Given the description of an element on the screen output the (x, y) to click on. 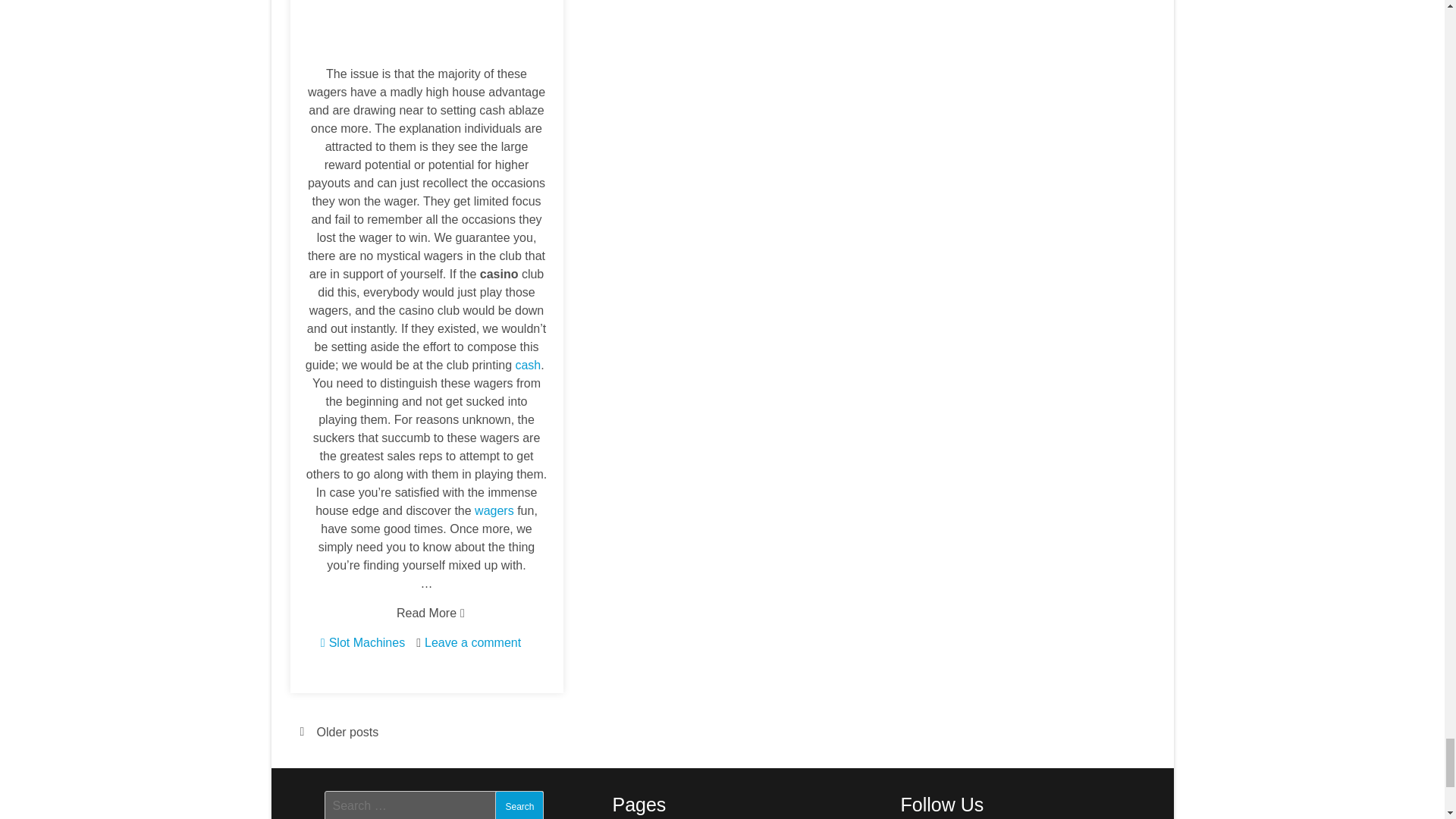
Search (519, 805)
Search (519, 805)
